Given the description of an element on the screen output the (x, y) to click on. 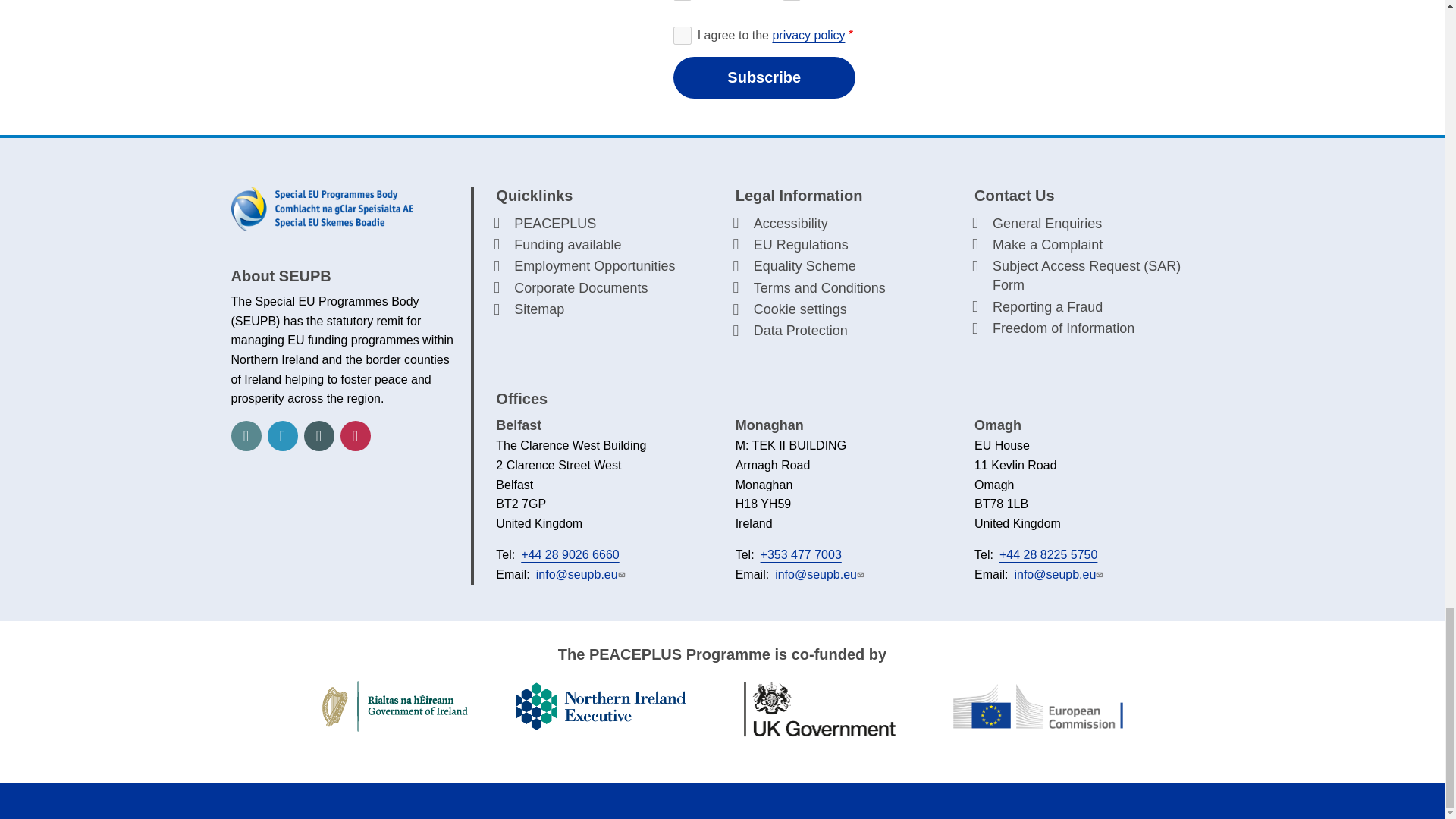
Open the cookie consent dialog. (842, 309)
Subscribe (764, 77)
1 (681, 35)
